Given the description of an element on the screen output the (x, y) to click on. 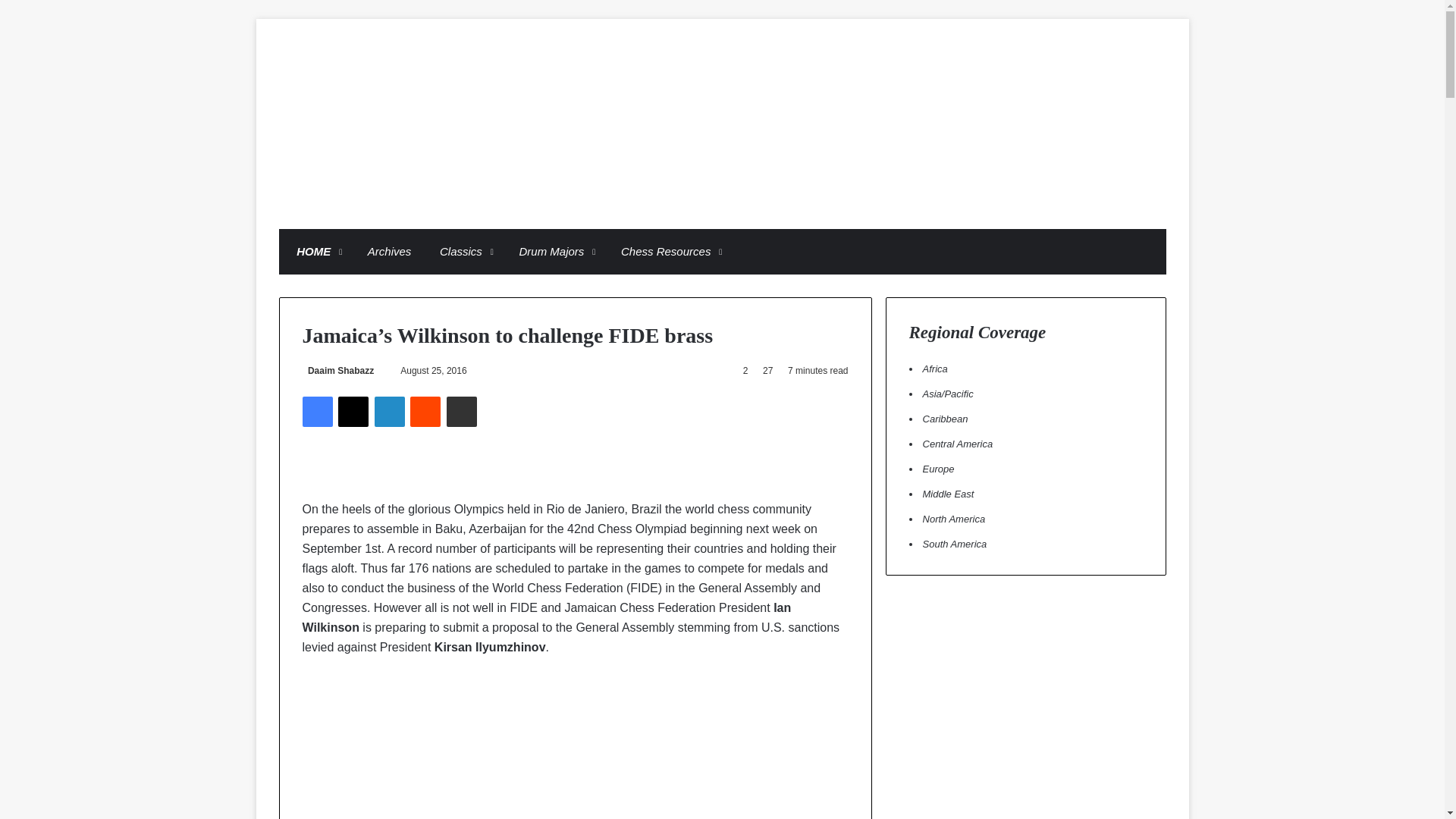
Share via Email (461, 411)
LinkedIn (389, 411)
Share via Email (461, 411)
X (352, 411)
LinkedIn (389, 411)
Facebook (316, 411)
Chess Resources (665, 251)
Drum Majors (552, 251)
X (352, 411)
Daaim Shabazz (337, 370)
